Given the description of an element on the screen output the (x, y) to click on. 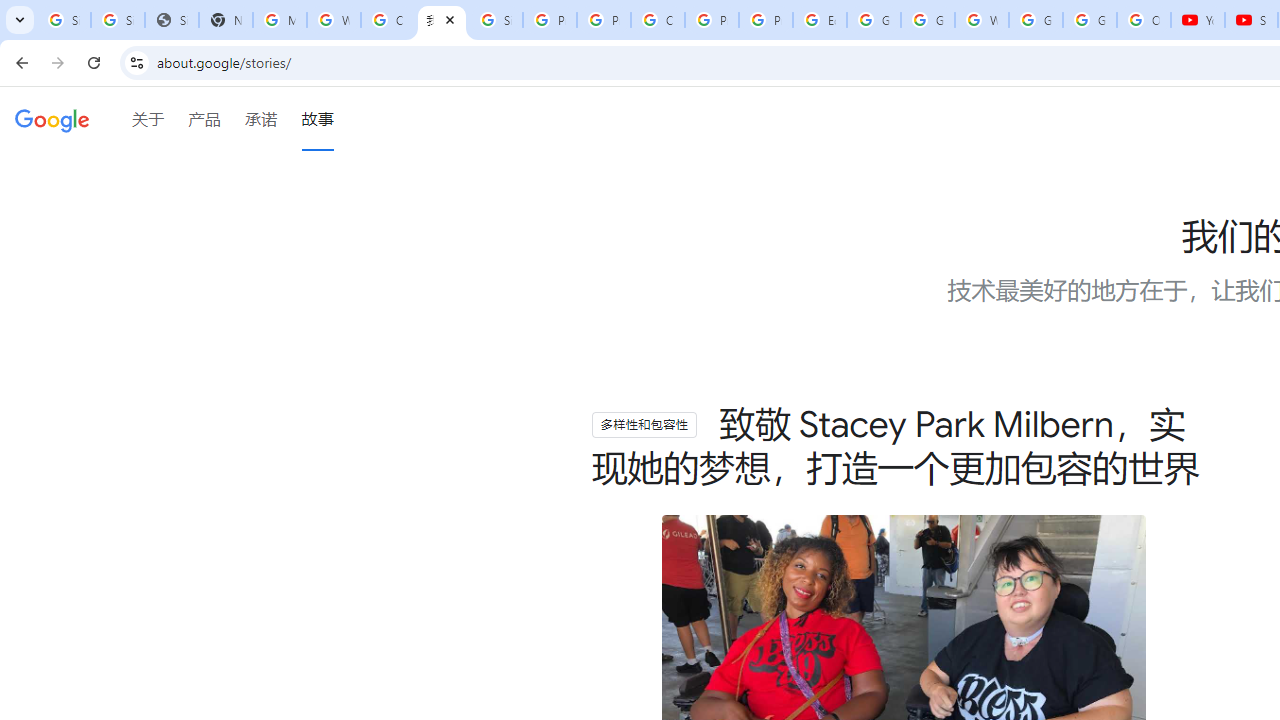
Welcome to My Activity (981, 20)
Sign in - Google Accounts (117, 20)
Sign in - Google Accounts (63, 20)
